Given the description of an element on the screen output the (x, y) to click on. 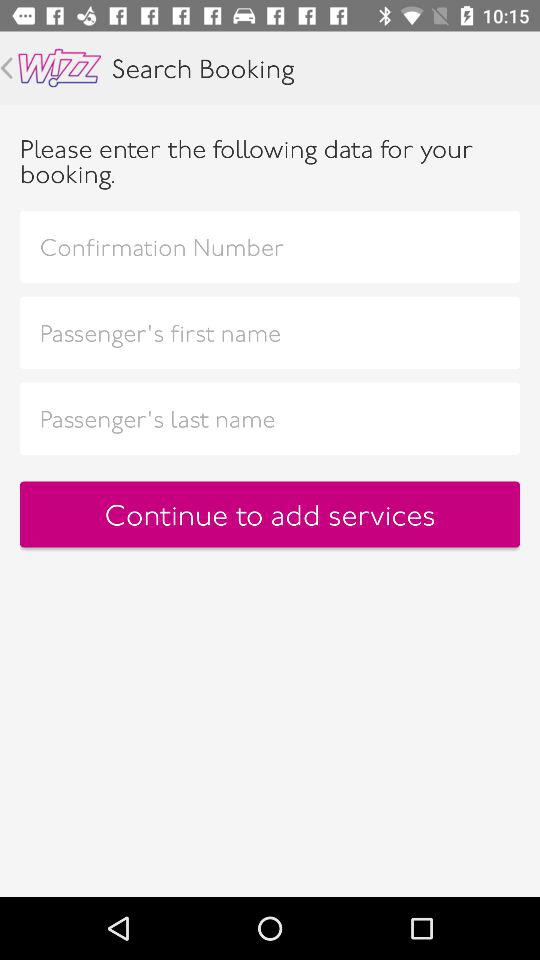
go back to last screen (6, 67)
